Given the description of an element on the screen output the (x, y) to click on. 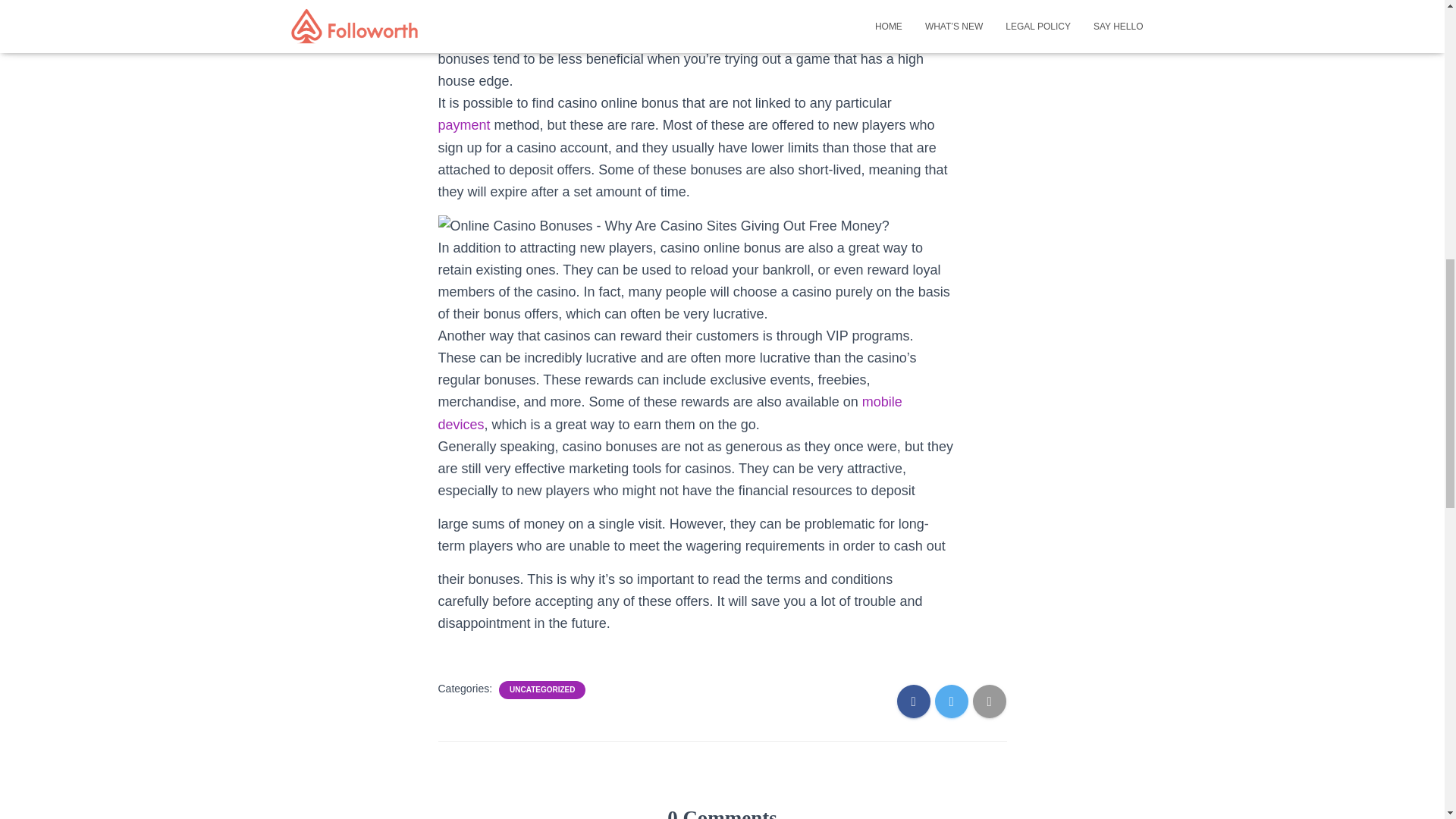
UNCATEGORIZED (542, 689)
payment (464, 124)
devices (461, 424)
mobile (881, 401)
